Given the description of an element on the screen output the (x, y) to click on. 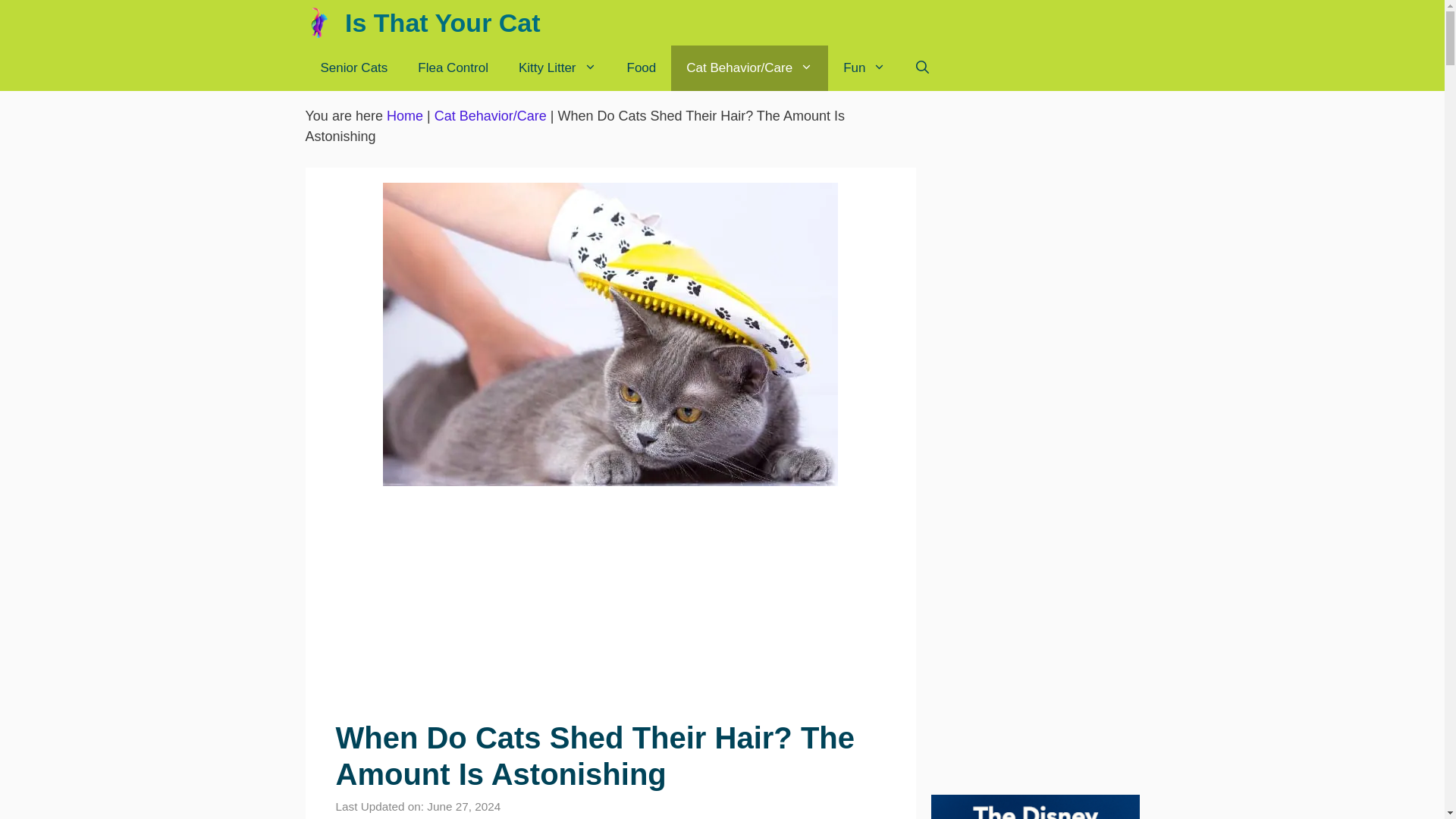
Advertisement (609, 605)
Kitty Litter (557, 67)
Fun (864, 67)
Senior Cats (353, 67)
Is That Your Cat (442, 22)
Flea Control (453, 67)
Home (405, 115)
Is That Your Cat (324, 22)
Is That Your Cat (320, 22)
Food (641, 67)
